Given the description of an element on the screen output the (x, y) to click on. 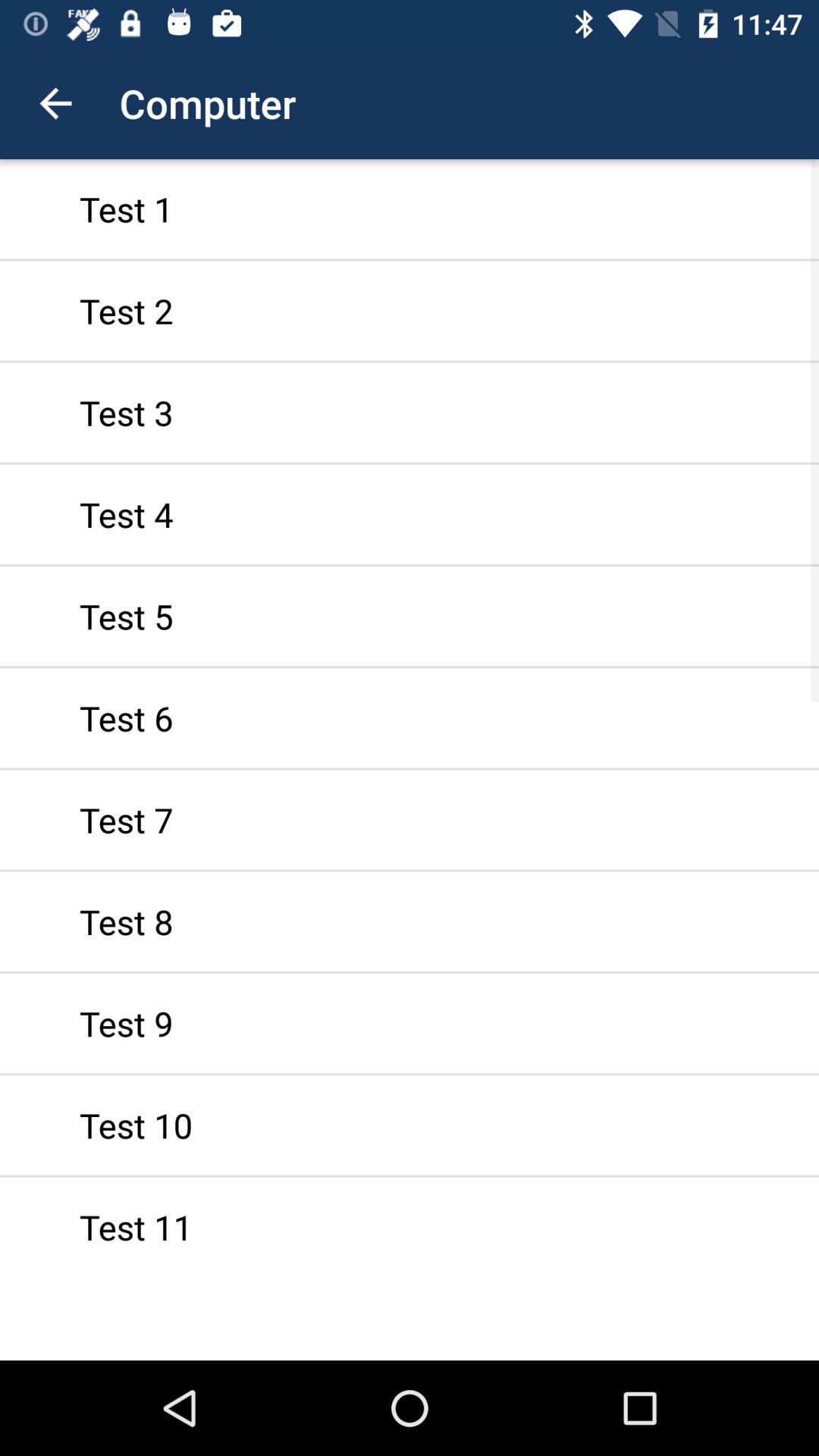
flip until test 11 item (409, 1218)
